Given the description of an element on the screen output the (x, y) to click on. 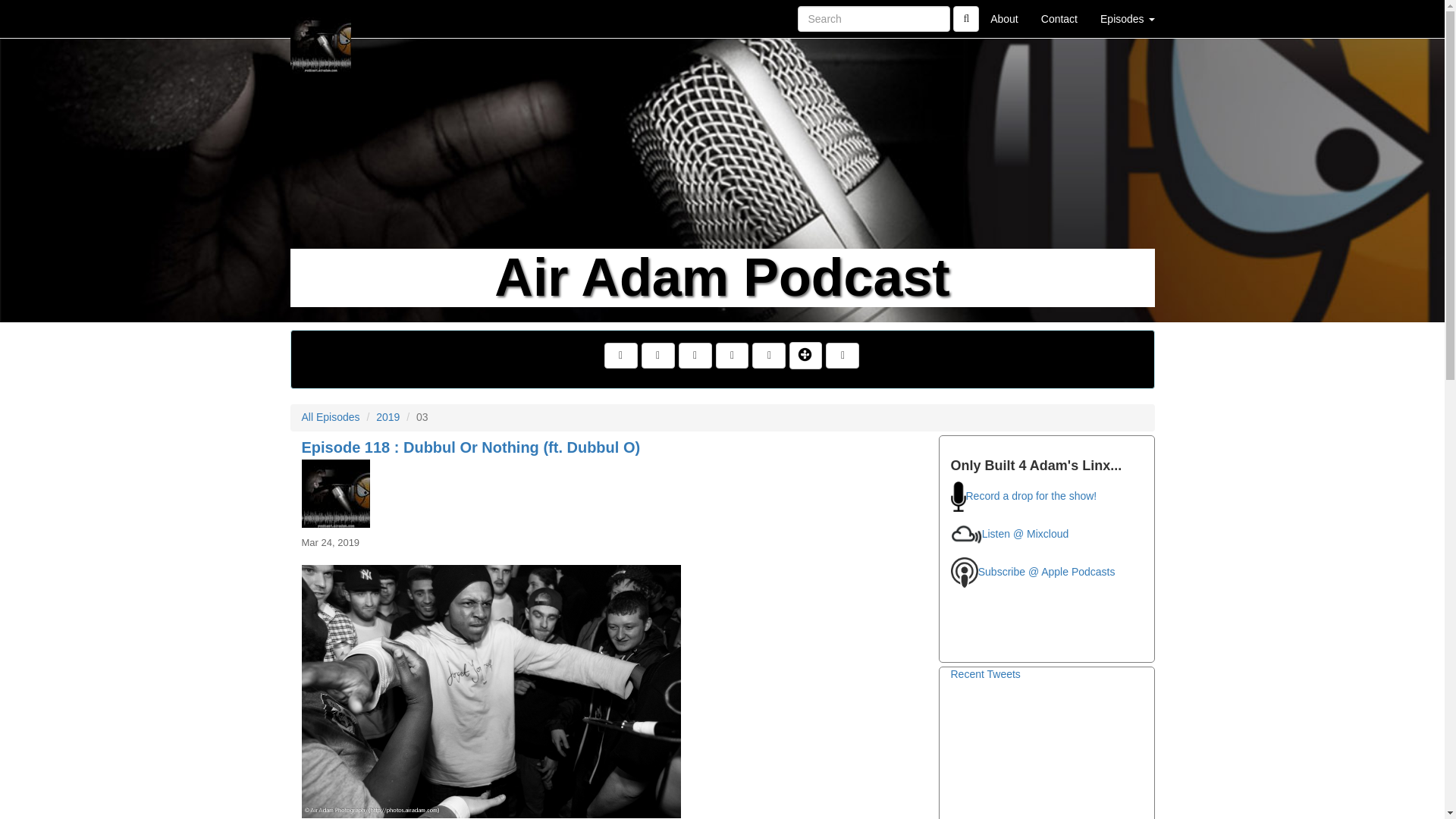
Episodes (1127, 18)
About (1003, 18)
Home Page (320, 18)
Contact (1059, 18)
